Given the description of an element on the screen output the (x, y) to click on. 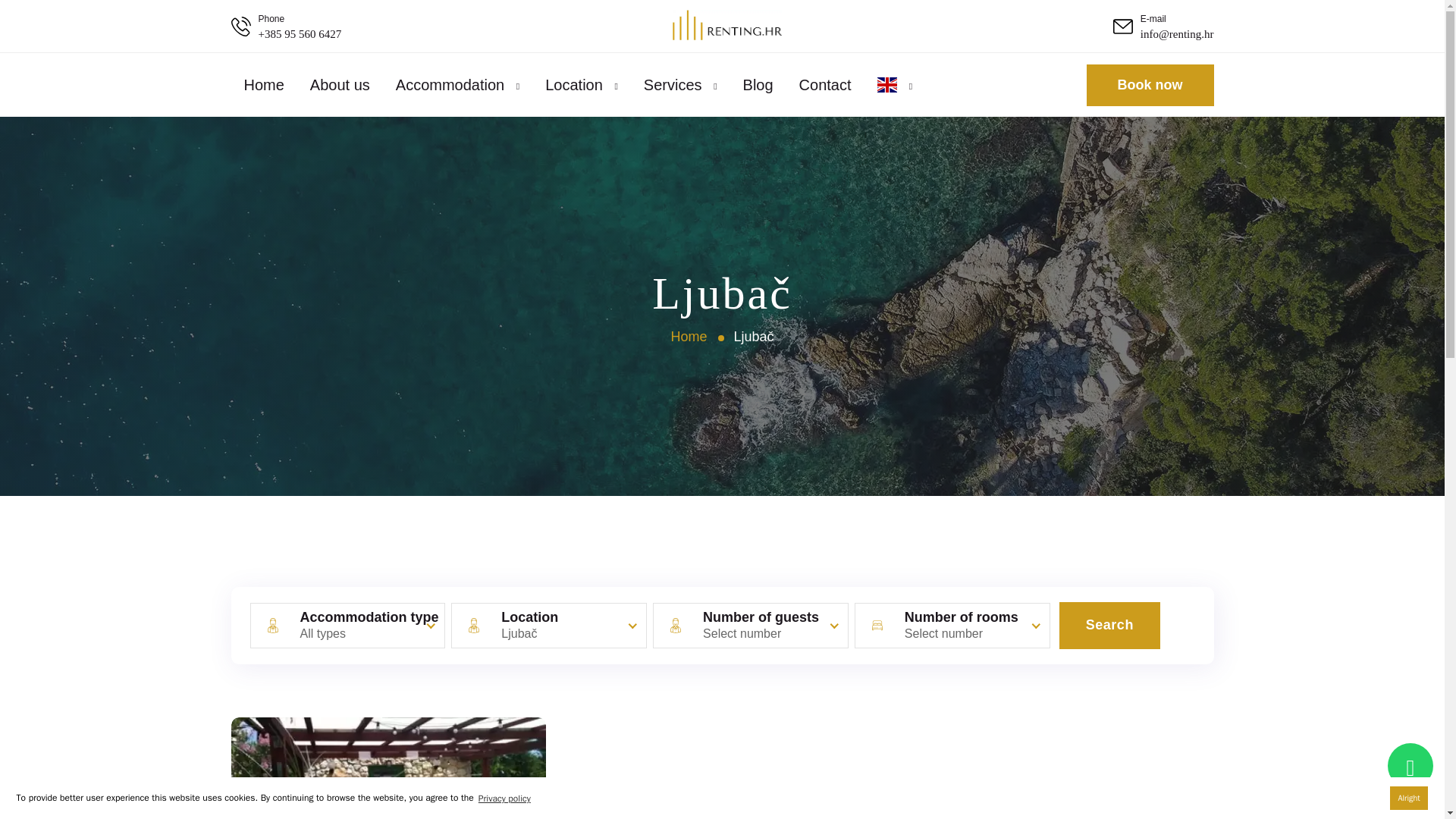
About us (339, 85)
Location (573, 85)
Home (687, 336)
Accommodation (449, 85)
Home (263, 85)
Book now (1149, 84)
Services (672, 85)
Privacy policy (504, 797)
Blog (757, 85)
Contact (825, 85)
Search (1109, 625)
Alright (1409, 797)
